Given the description of an element on the screen output the (x, y) to click on. 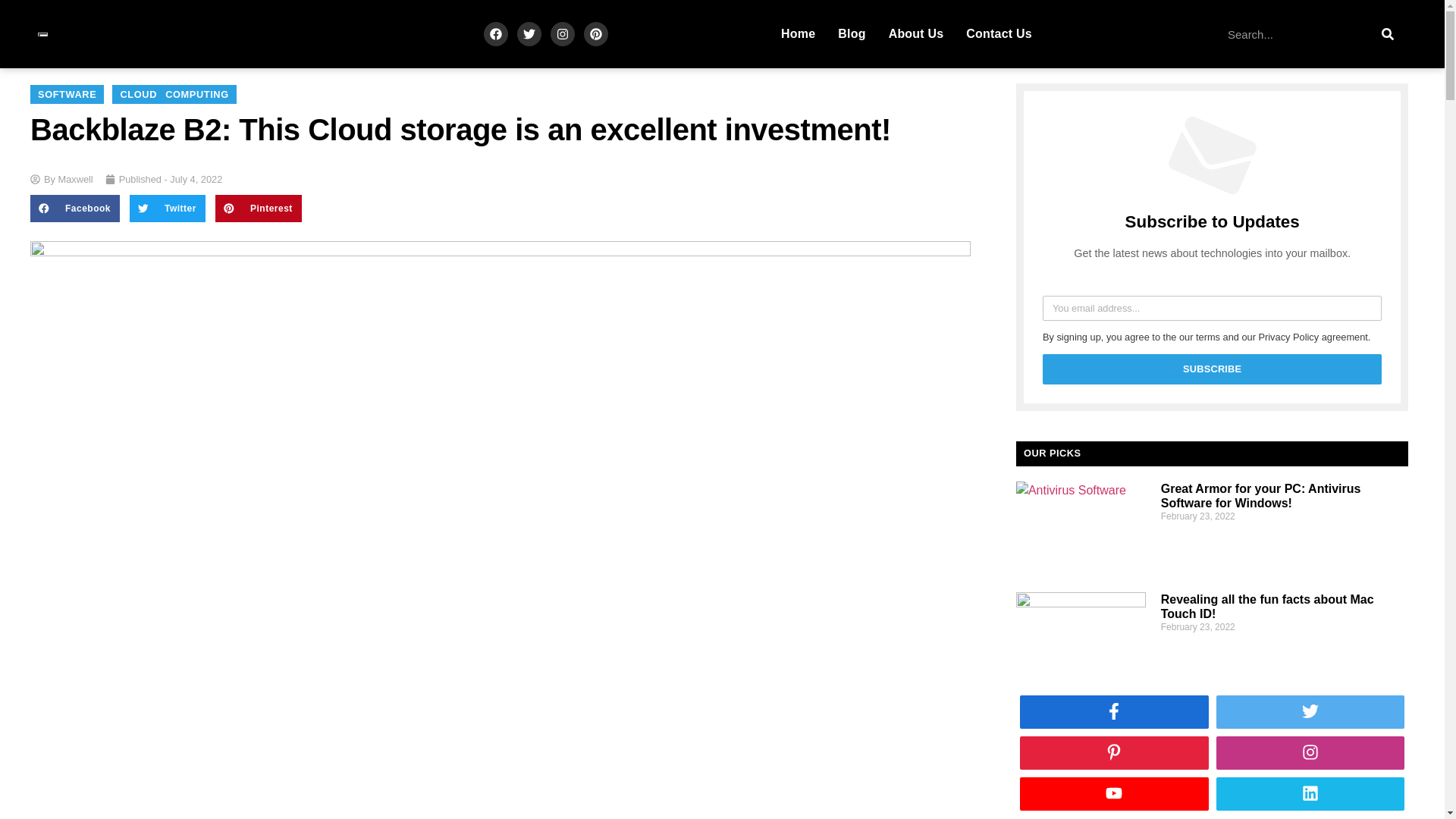
About Us (915, 33)
By Maxwell (61, 178)
Contact Us (998, 33)
CLOUD COMPUTING (173, 94)
SOFTWARE (66, 94)
Home (797, 33)
